Given the description of an element on the screen output the (x, y) to click on. 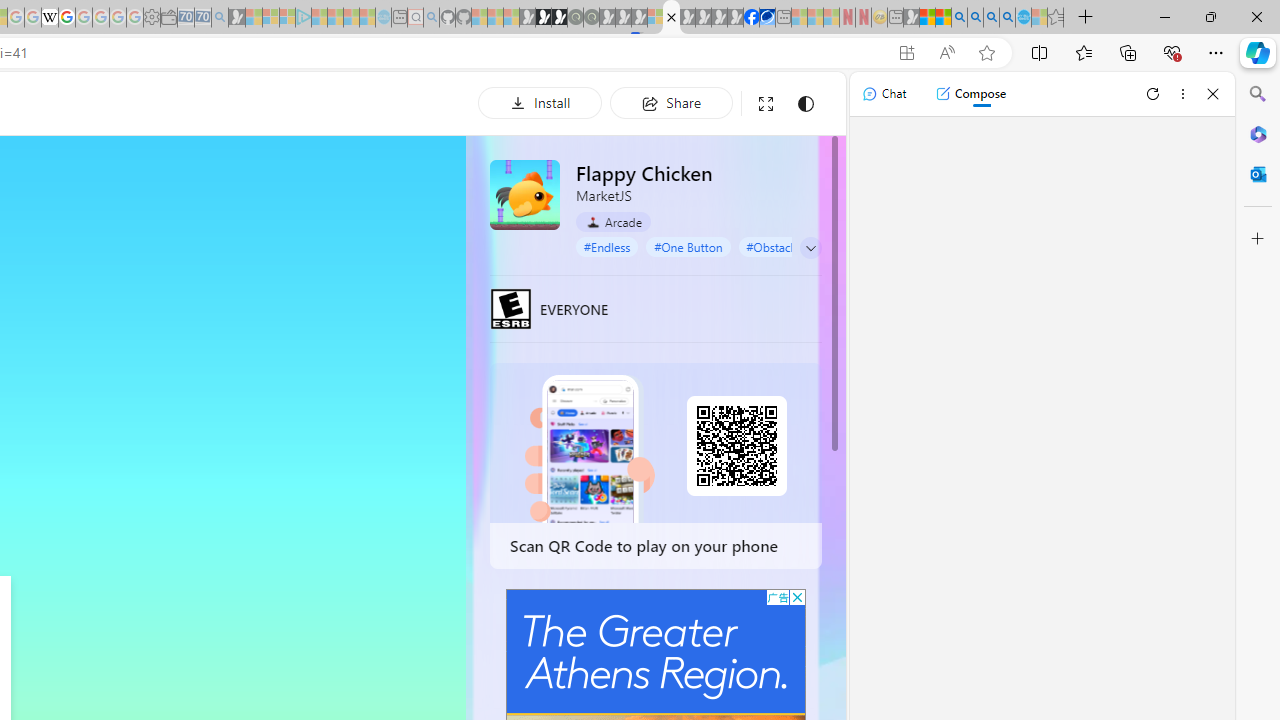
Nordace | Facebook (751, 17)
Share (671, 102)
App available. Install Flappy Chicken (906, 53)
